Given the description of an element on the screen output the (x, y) to click on. 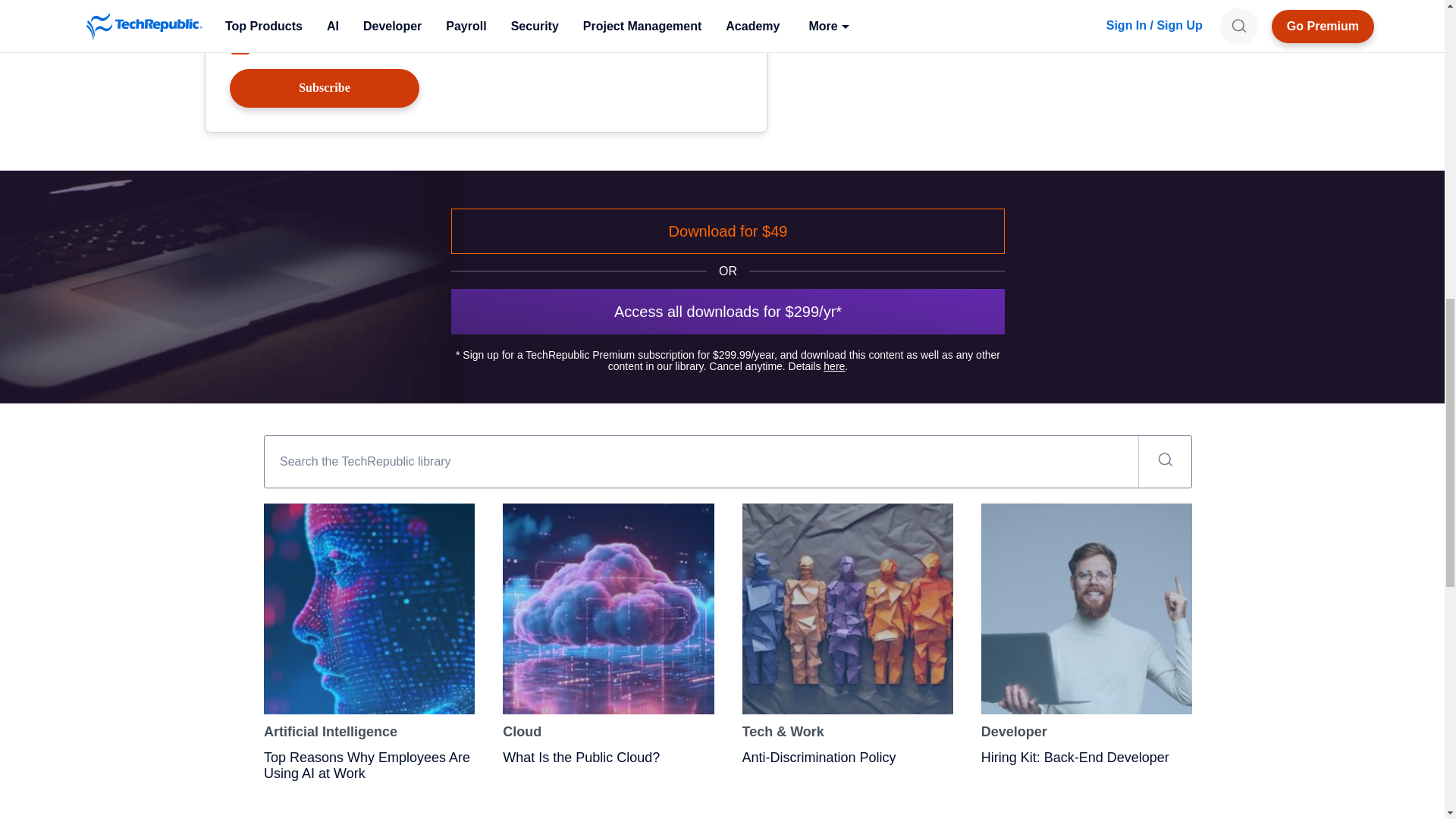
on (239, 45)
Subscribe (324, 87)
Terms of Use (488, 41)
Privacy Policy (557, 41)
